Given the description of an element on the screen output the (x, y) to click on. 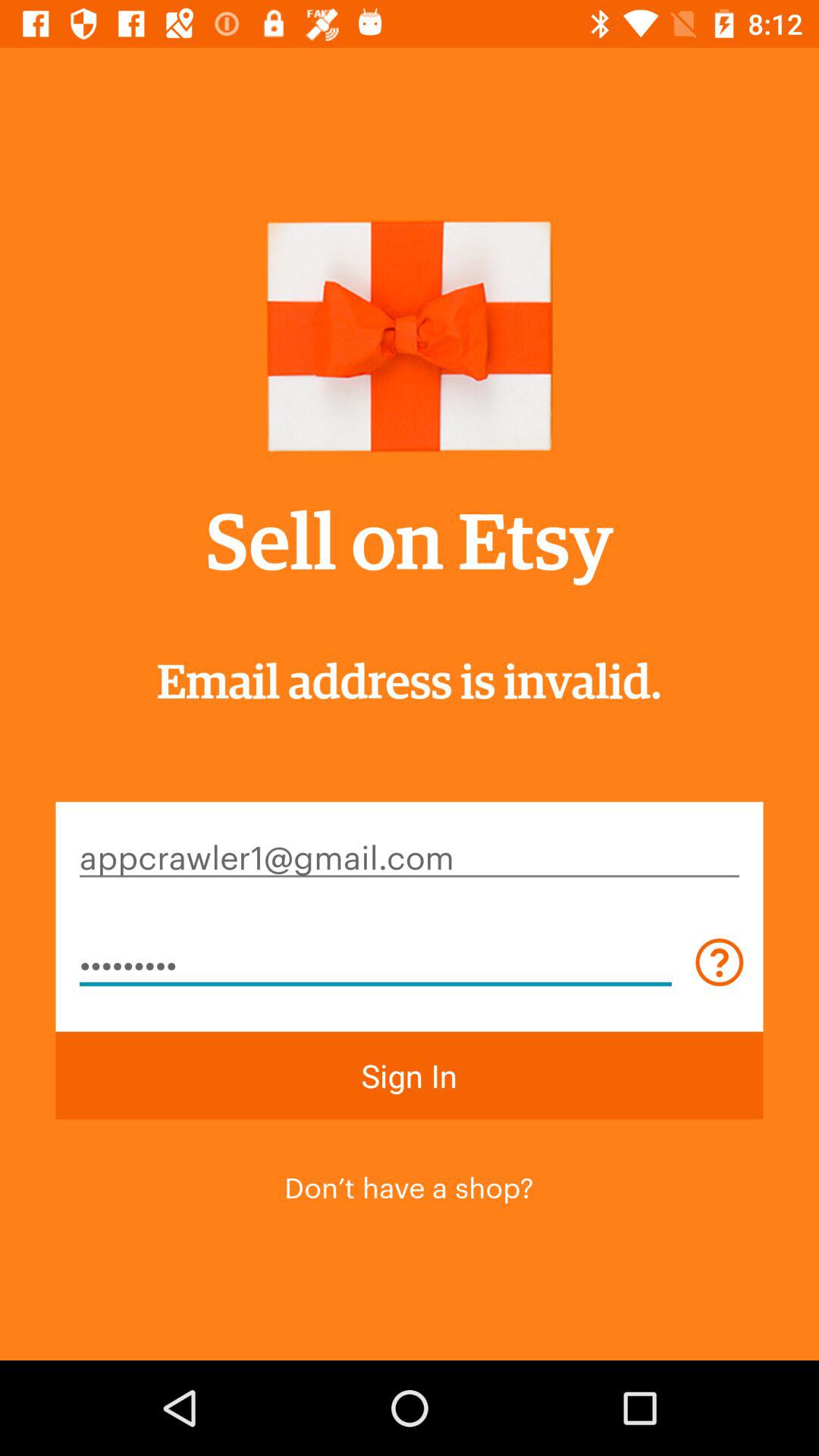
swipe to the crowd3116 item (375, 961)
